Given the description of an element on the screen output the (x, y) to click on. 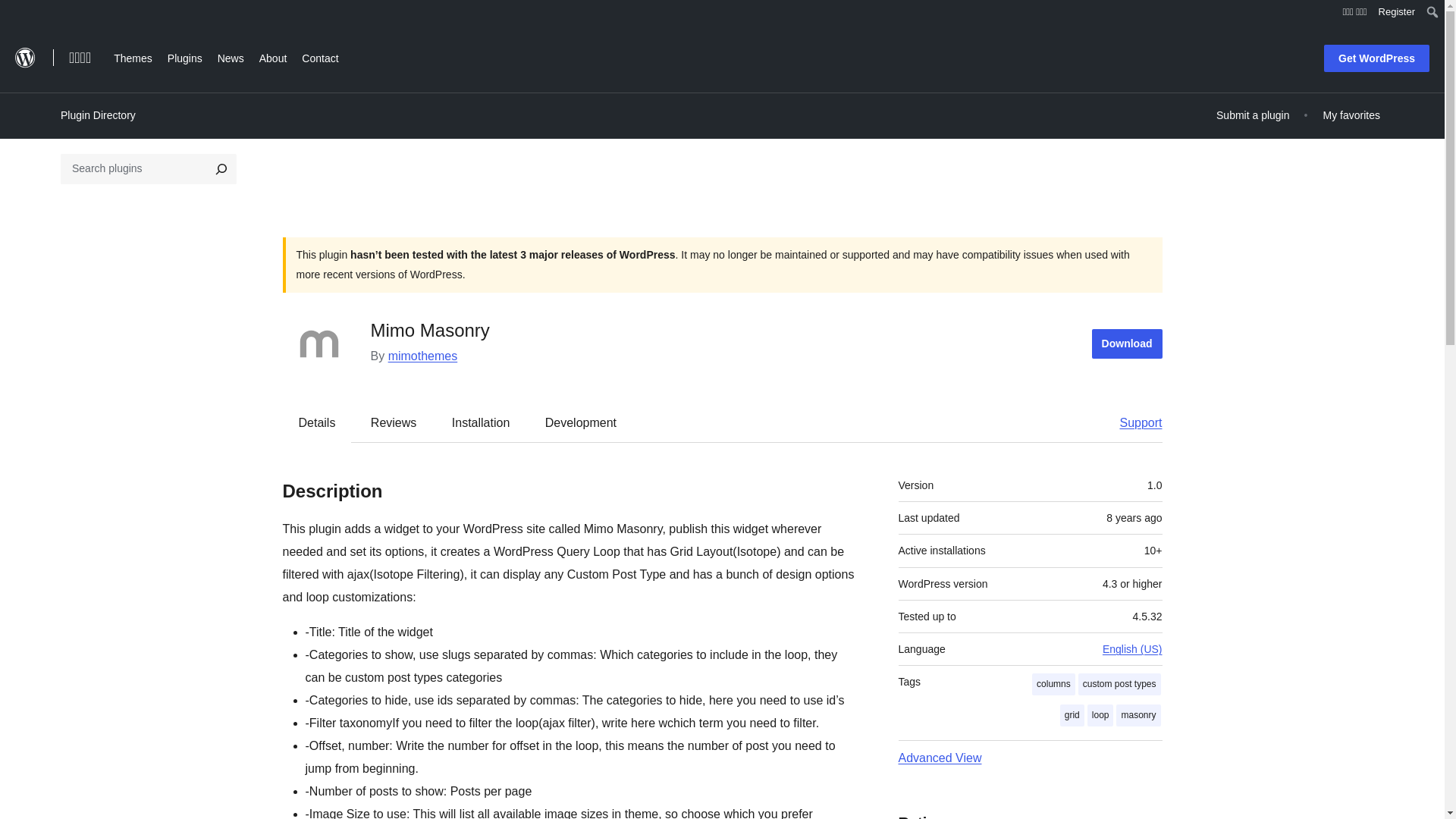
Plugins (184, 56)
About (273, 56)
Plugin Directory (97, 115)
Register (1397, 12)
Get WordPress (1376, 58)
Reviews (392, 422)
News (230, 56)
Development (580, 422)
Download (1126, 344)
Details (316, 422)
mimothemes (423, 355)
Submit a plugin (1253, 115)
My favorites (1351, 115)
Themes (133, 56)
